Given the description of an element on the screen output the (x, y) to click on. 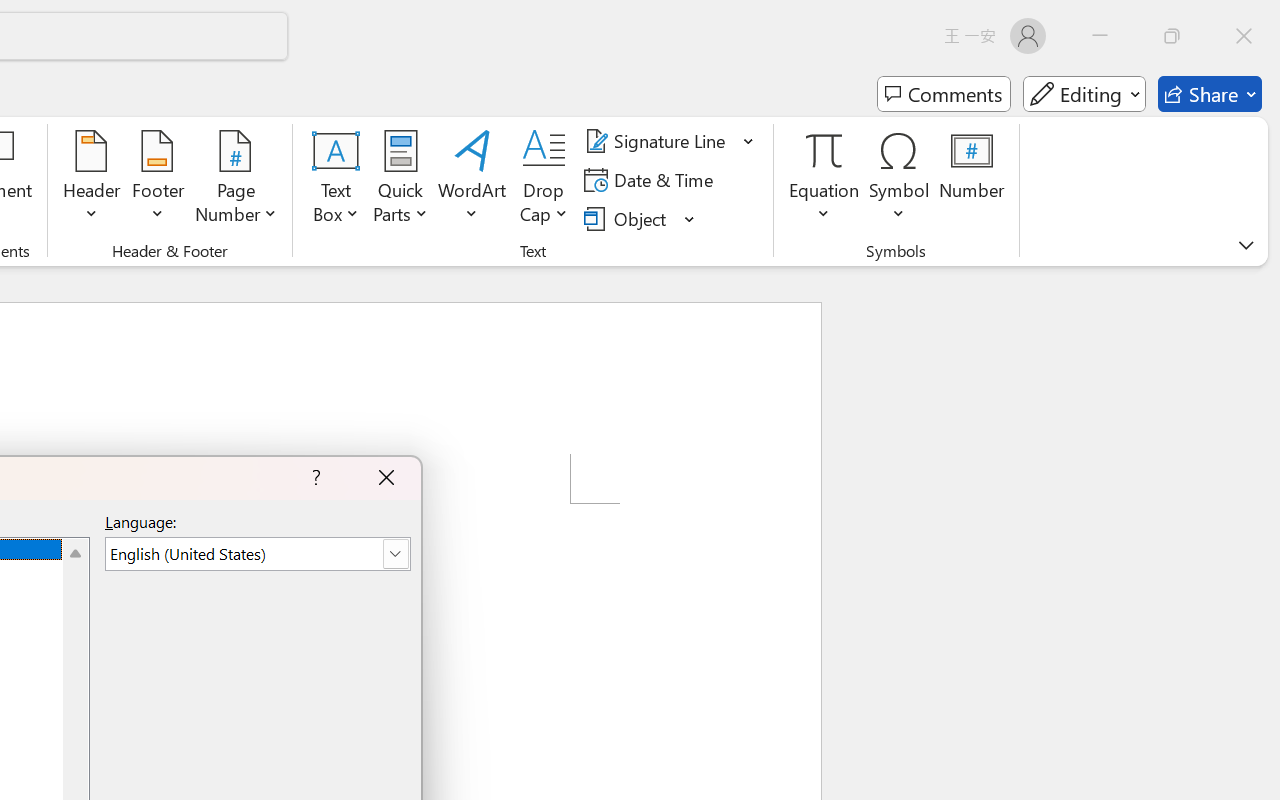
Header (92, 179)
Ribbon Display Options (1246, 245)
Mode (1083, 94)
Number... (971, 179)
WordArt (472, 179)
Restore Down (1172, 36)
Language: (257, 553)
Comments (943, 94)
Signature Line (658, 141)
Minimize (1099, 36)
Object... (640, 218)
Symbol (899, 179)
More Options (823, 206)
